Given the description of an element on the screen output the (x, y) to click on. 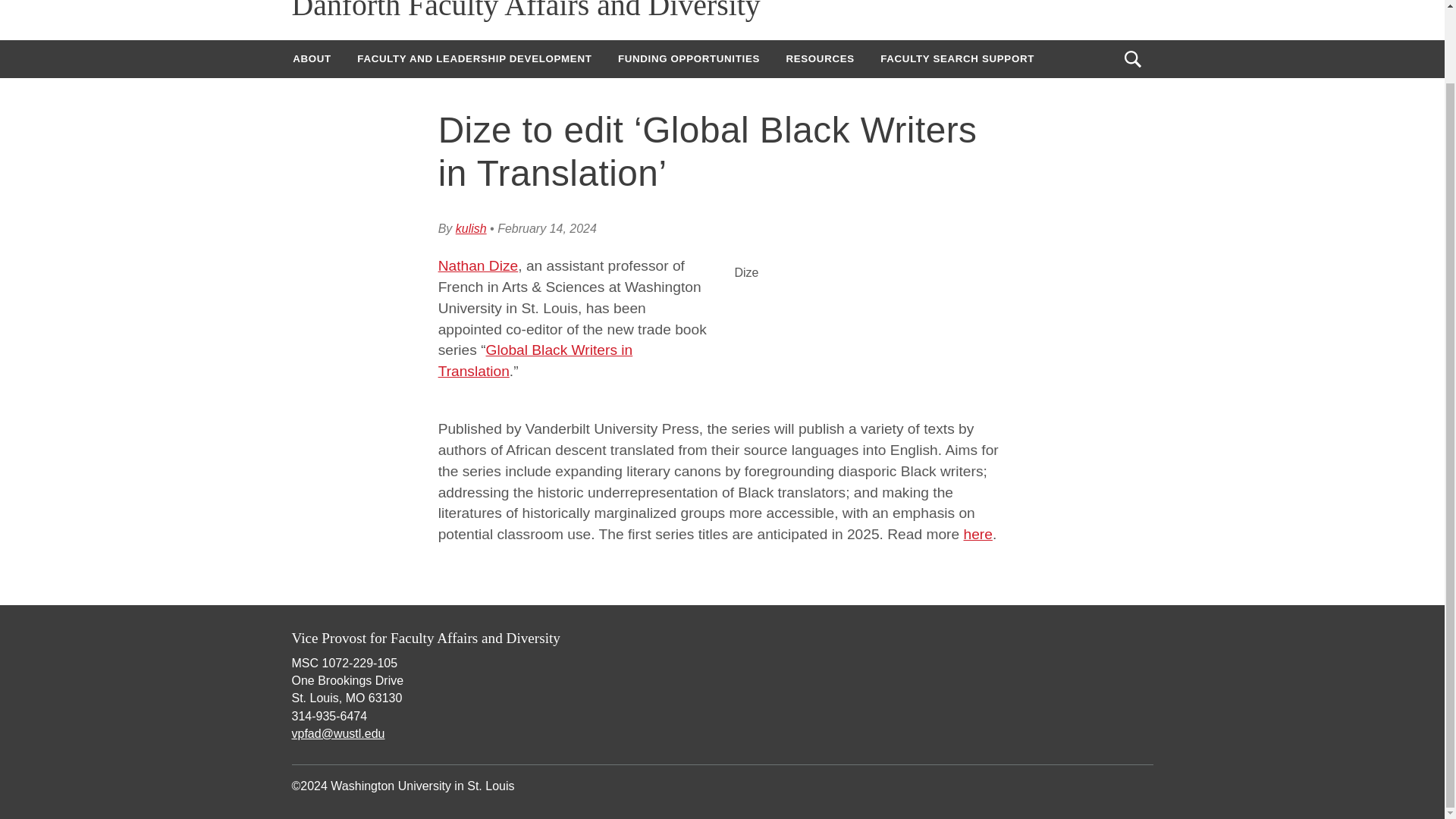
FACULTY AND LEADERSHIP DEVELOPMENT (474, 58)
here (977, 534)
Danforth Faculty Affairs and Diversity (525, 11)
ABOUT (311, 58)
kulish (470, 228)
FUNDING OPPORTUNITIES (689, 58)
Global Black Writers in Translation (535, 360)
FACULTY SEARCH SUPPORT (957, 58)
Open Search (1132, 59)
Nathan Dize (478, 265)
